Given the description of an element on the screen output the (x, y) to click on. 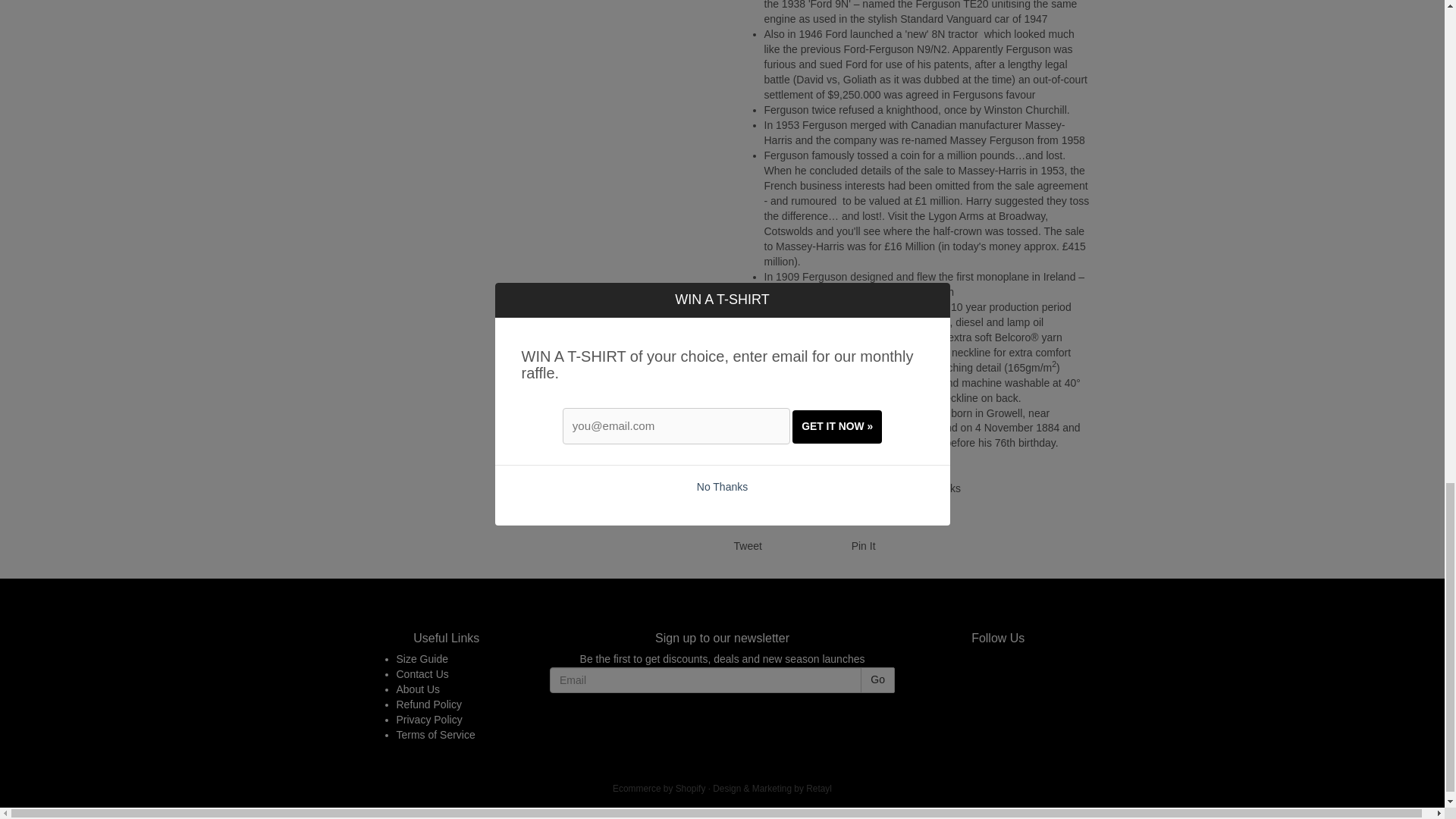
About Us (417, 689)
Terms of Service (435, 734)
About Us (417, 689)
Tweet (747, 545)
Go (877, 679)
Refund Policy (428, 704)
Size Guide (421, 658)
Contact Us (422, 674)
Terms of Service (435, 734)
Privacy Policy (428, 719)
Contact Us (422, 674)
Privacy Policy (428, 719)
Size Guide (421, 658)
Go (877, 679)
Pin It (863, 545)
